Given the description of an element on the screen output the (x, y) to click on. 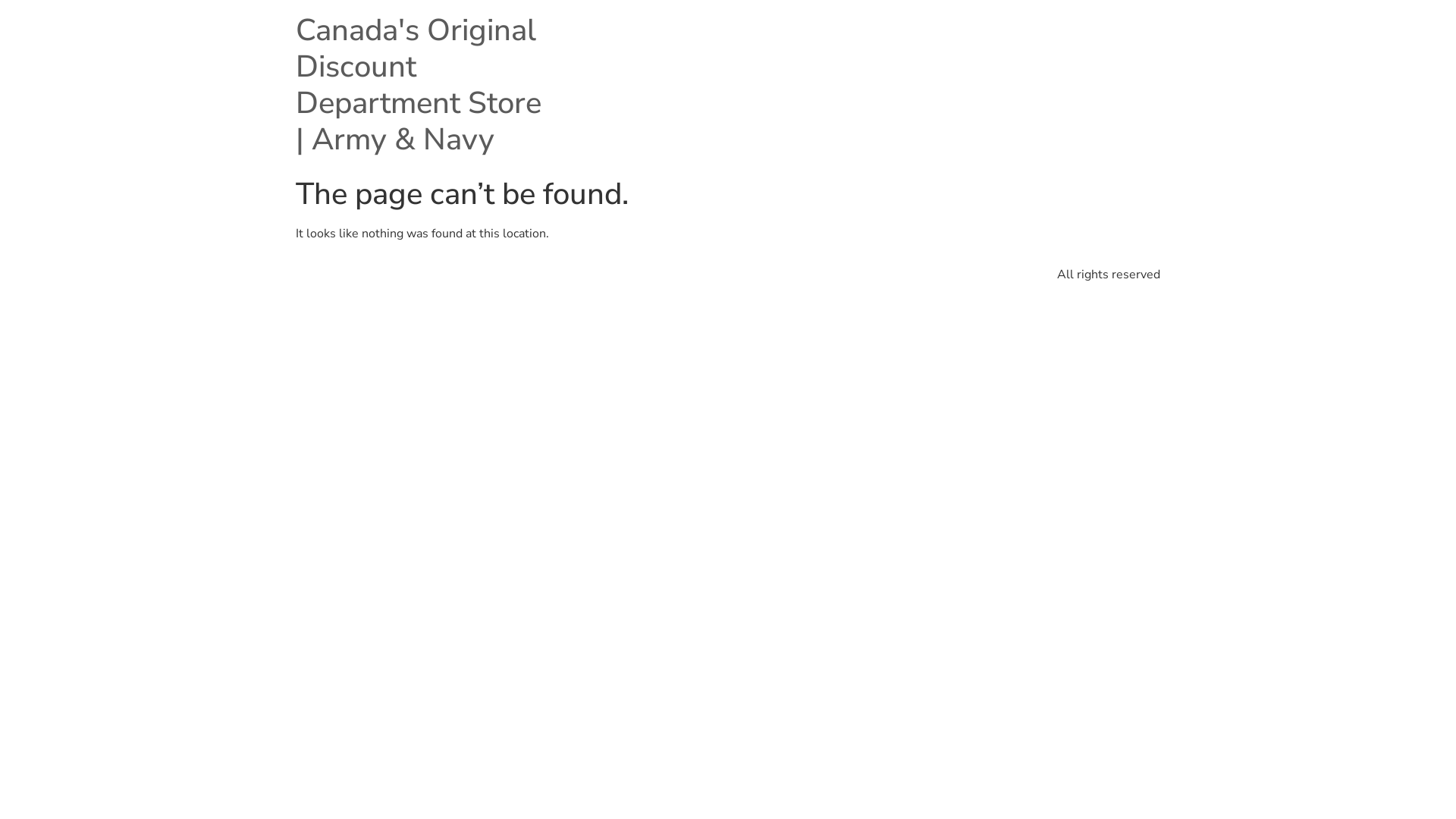
Canada's Original Discount Department Store | Army & Navy Element type: text (418, 84)
